Given the description of an element on the screen output the (x, y) to click on. 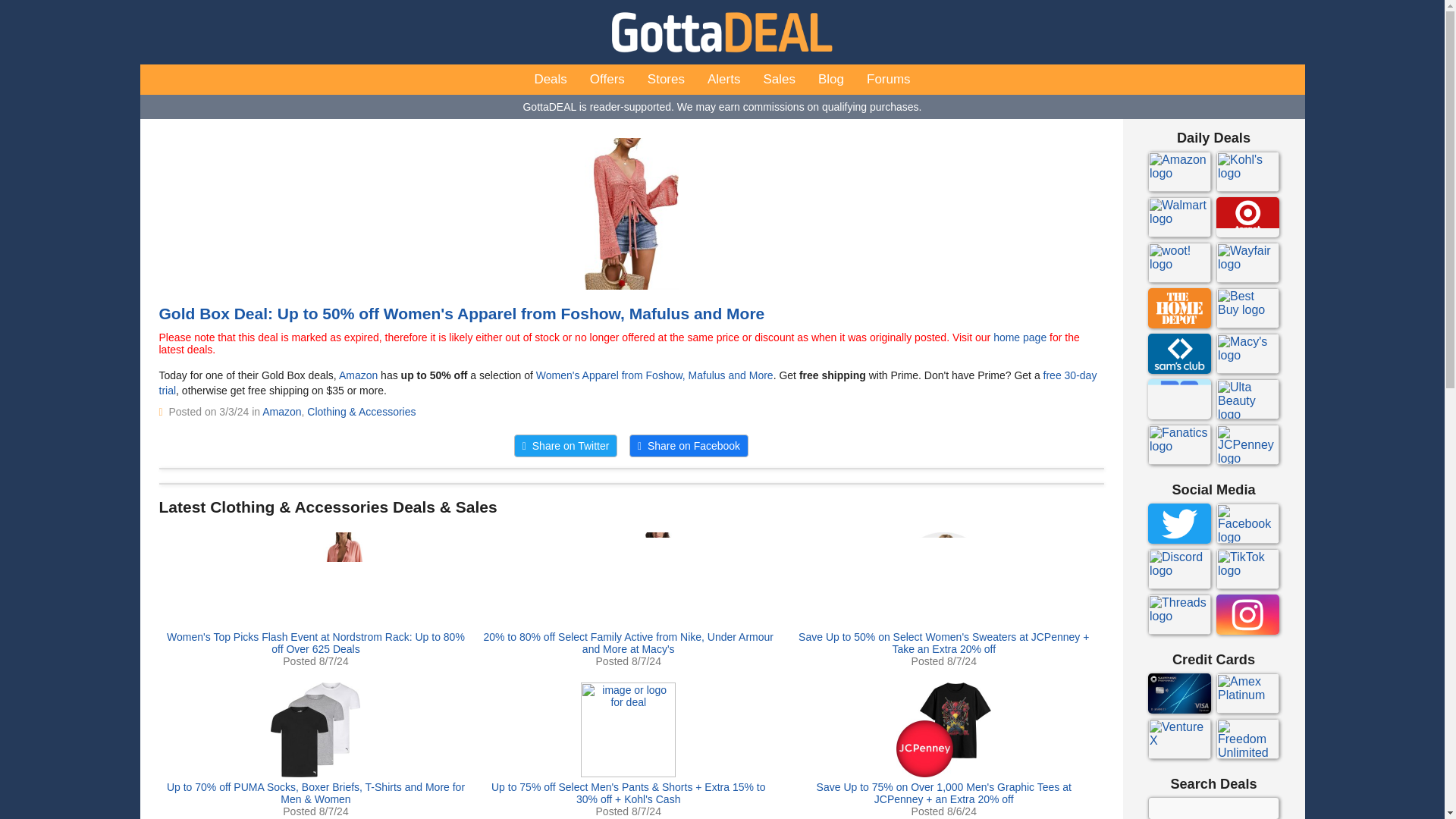
Sales (778, 79)
Forums (888, 79)
  Share on Twitter (565, 445)
Blog (831, 79)
  Share on Facebook (688, 445)
Alerts (723, 79)
Amazon (358, 375)
Deals (550, 79)
free 30-day trial (627, 382)
GottaDEAL - Why pay retail? (722, 32)
Women's Apparel from Foshow, Mafulus and More (654, 375)
Offers (607, 79)
home page (1019, 337)
Amazon (281, 411)
